Given the description of an element on the screen output the (x, y) to click on. 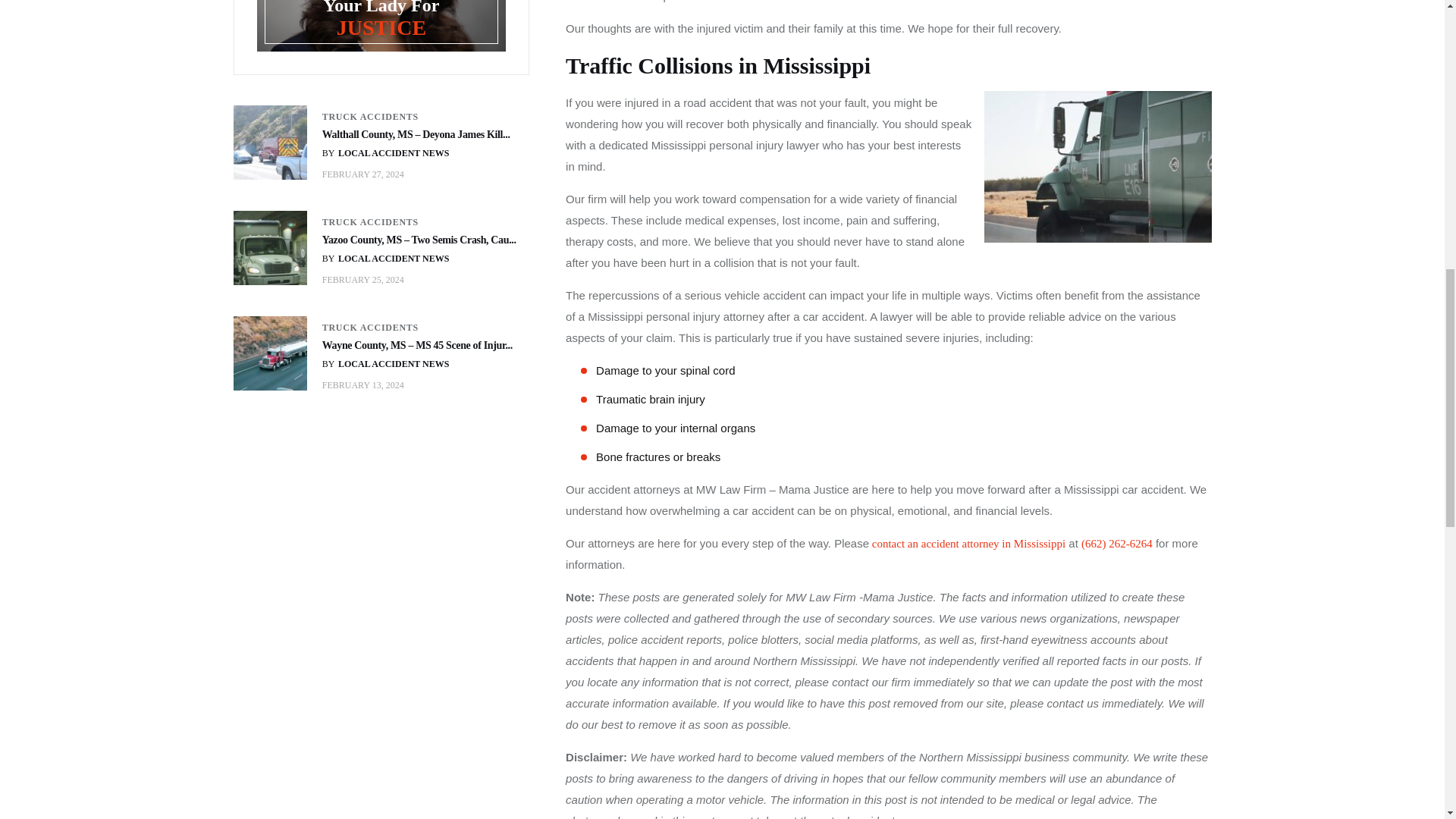
BY LOCAL ACCIDENT NEWS (385, 364)
TRUCK ACCIDENTS (370, 222)
TRUCK ACCIDENTS (370, 116)
BY LOCAL ACCIDENT NEWS (385, 258)
contact an accident attorney in Mississippi (967, 543)
TRUCK ACCIDENTS (370, 327)
BY LOCAL ACCIDENT NEWS (385, 152)
